Given the description of an element on the screen output the (x, y) to click on. 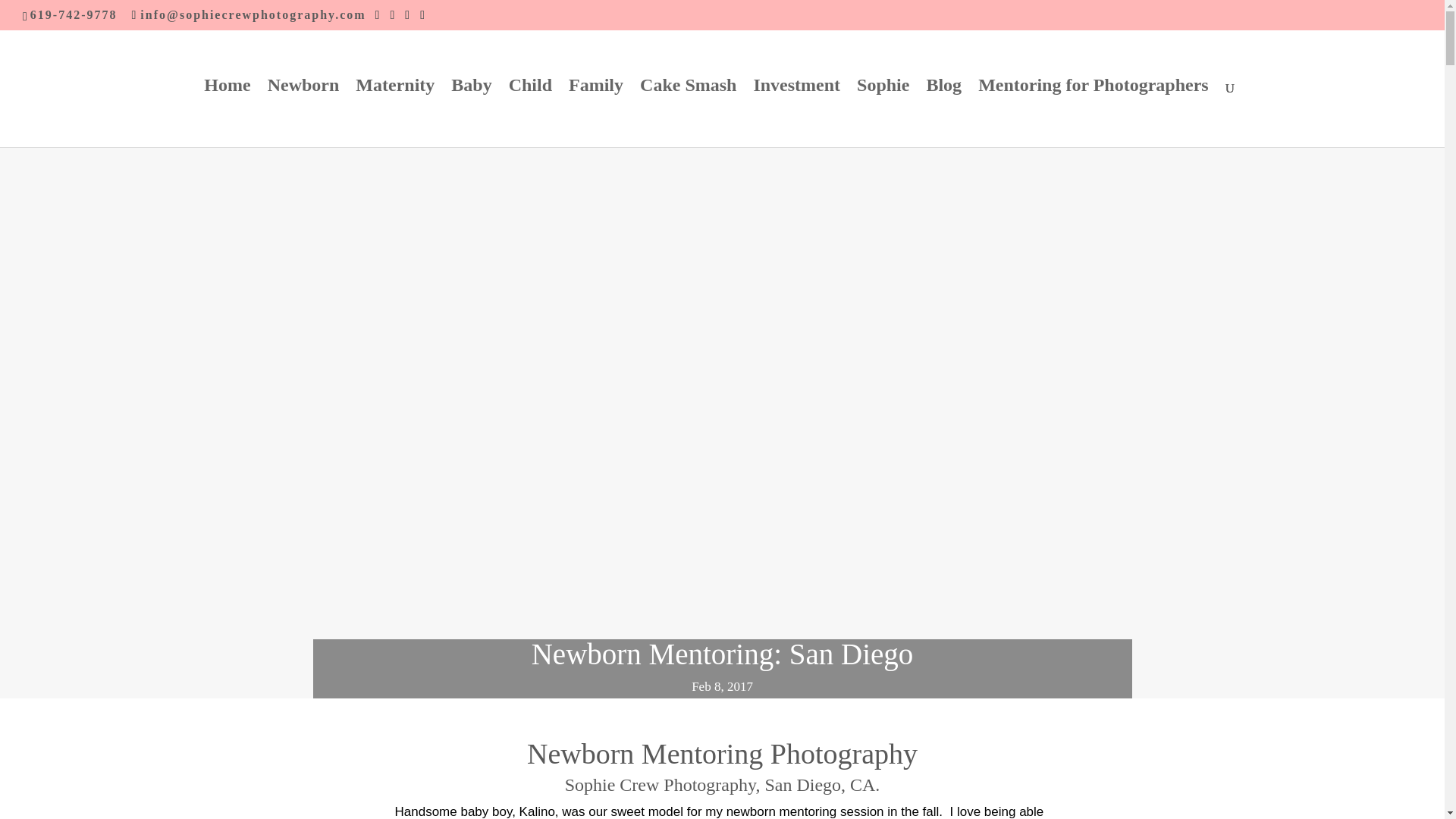
Sophie (882, 113)
Baby (471, 113)
Mentoring for Photographers (1093, 113)
Investment (796, 113)
Blog (943, 113)
Maternity (394, 113)
Newborn (303, 113)
Child (529, 113)
Family (596, 113)
Cake Smash (688, 113)
Home (226, 113)
